Given the description of an element on the screen output the (x, y) to click on. 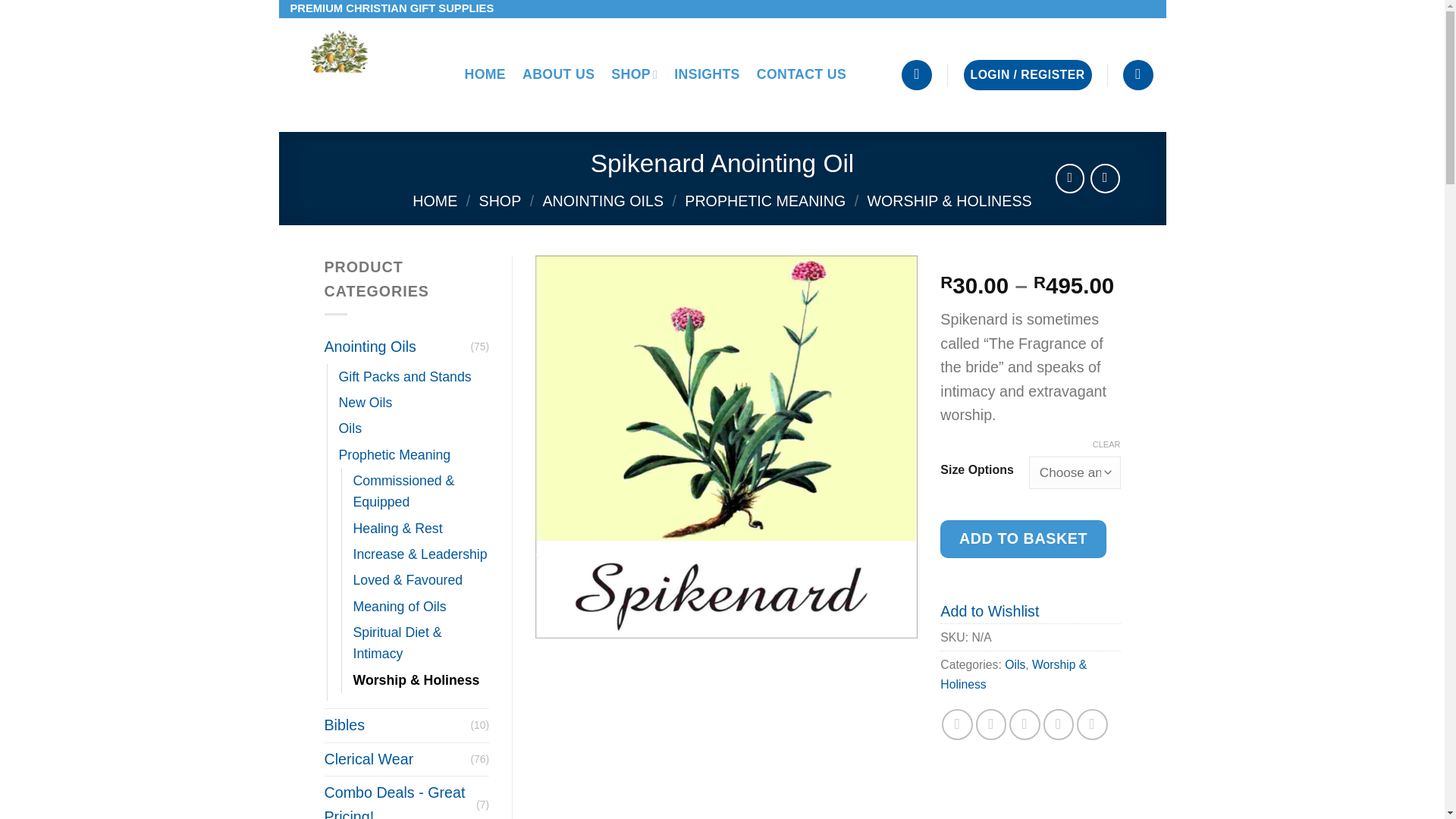
ABOUT US (558, 74)
Gift Packs and Stands (403, 376)
HOME (484, 74)
New Oils (364, 402)
Prophetic Meaning (393, 454)
INSIGHTS (706, 74)
Anointing Oils (397, 346)
PROPHETIC MEANING (764, 200)
ANOINTING OILS (602, 200)
Oils (349, 428)
